Given the description of an element on the screen output the (x, y) to click on. 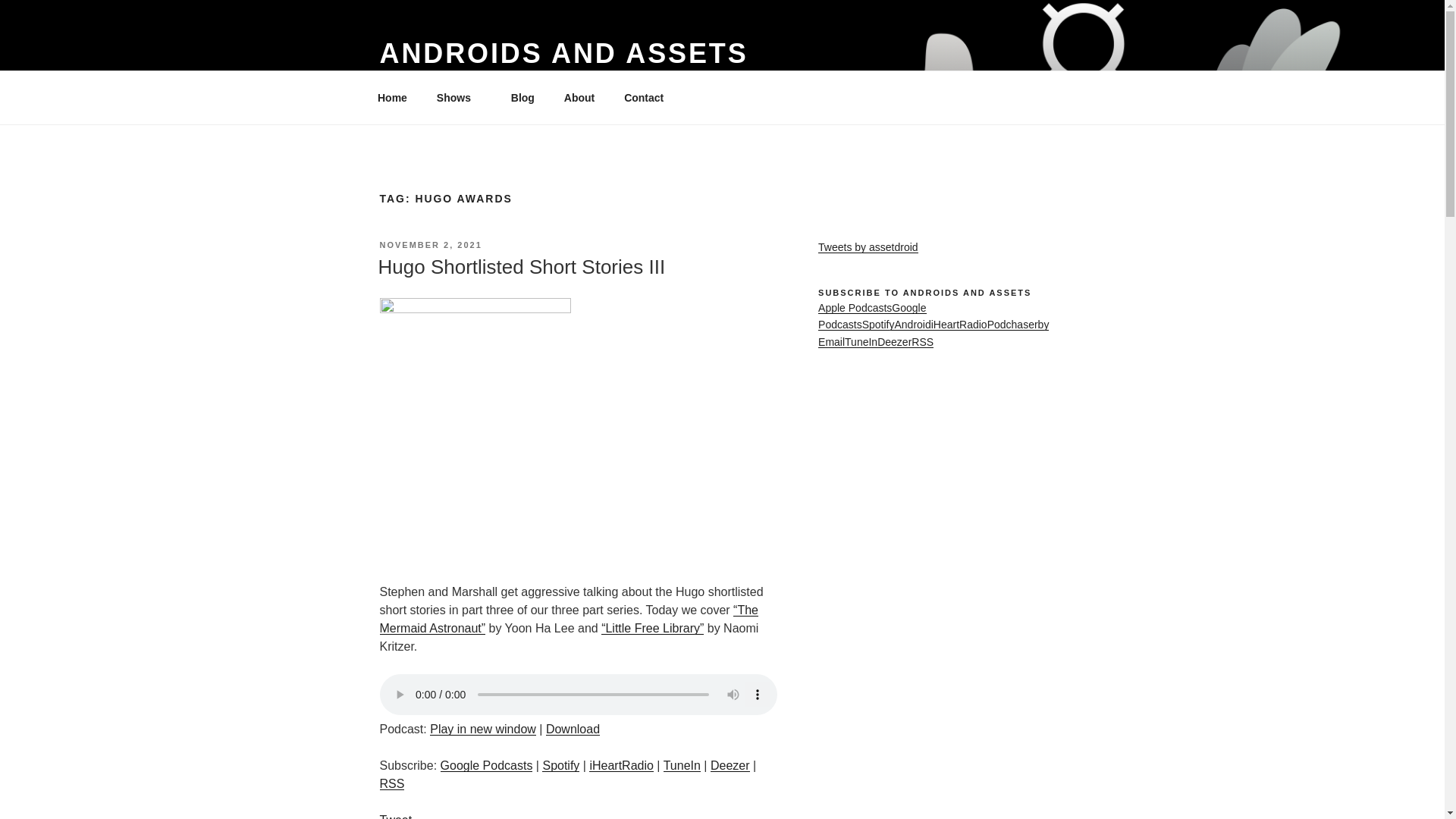
Google Podcasts (486, 765)
RSS (391, 783)
Play in new window (482, 728)
Shows (459, 97)
Subscribe on iHeartRadio (620, 765)
About (578, 97)
Download (572, 728)
Deezer (729, 765)
Blog (522, 97)
Tweet (395, 816)
